Given the description of an element on the screen output the (x, y) to click on. 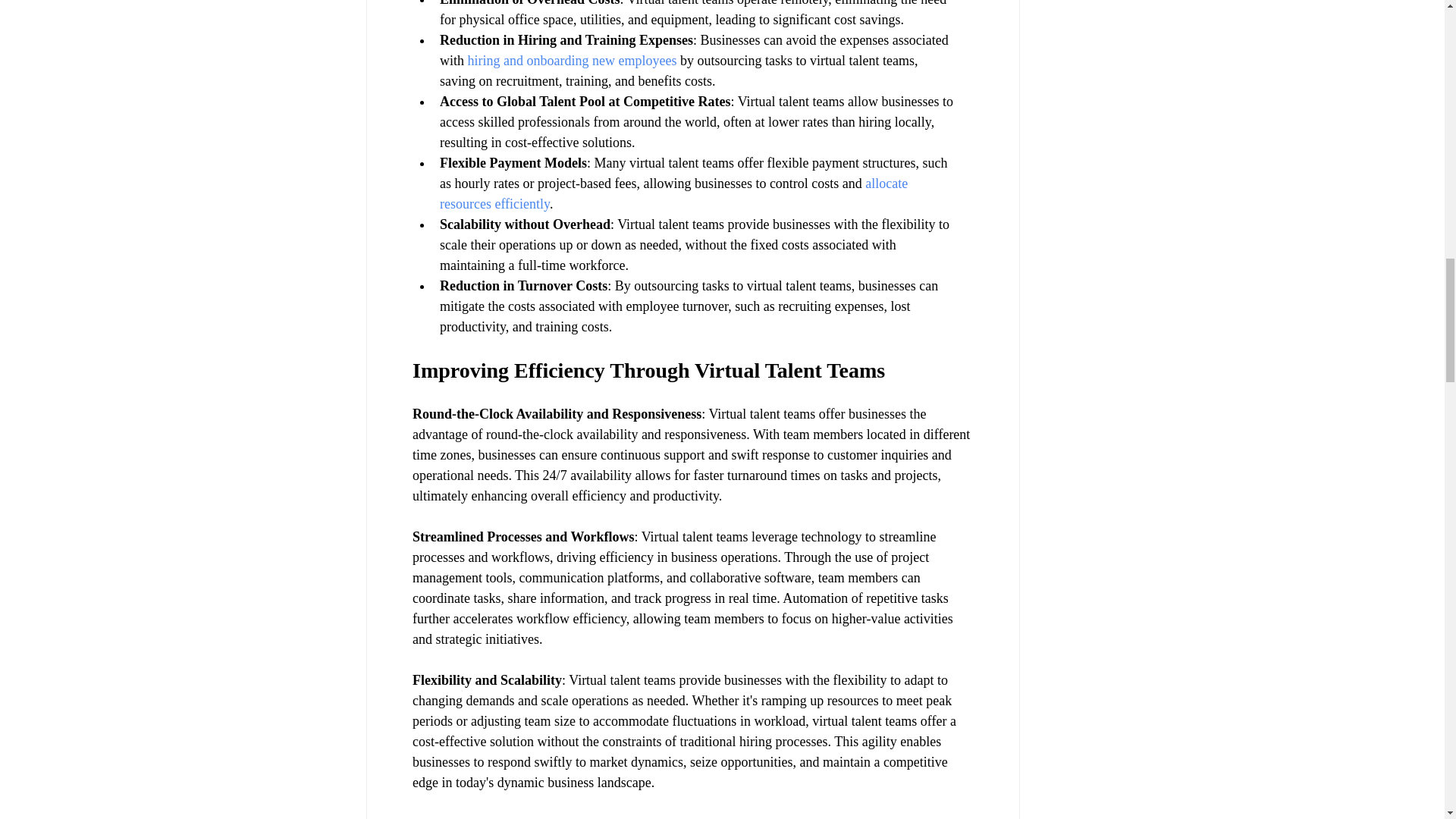
hiring and onboarding new employees (572, 60)
allocate resources efficiently (675, 193)
